Given the description of an element on the screen output the (x, y) to click on. 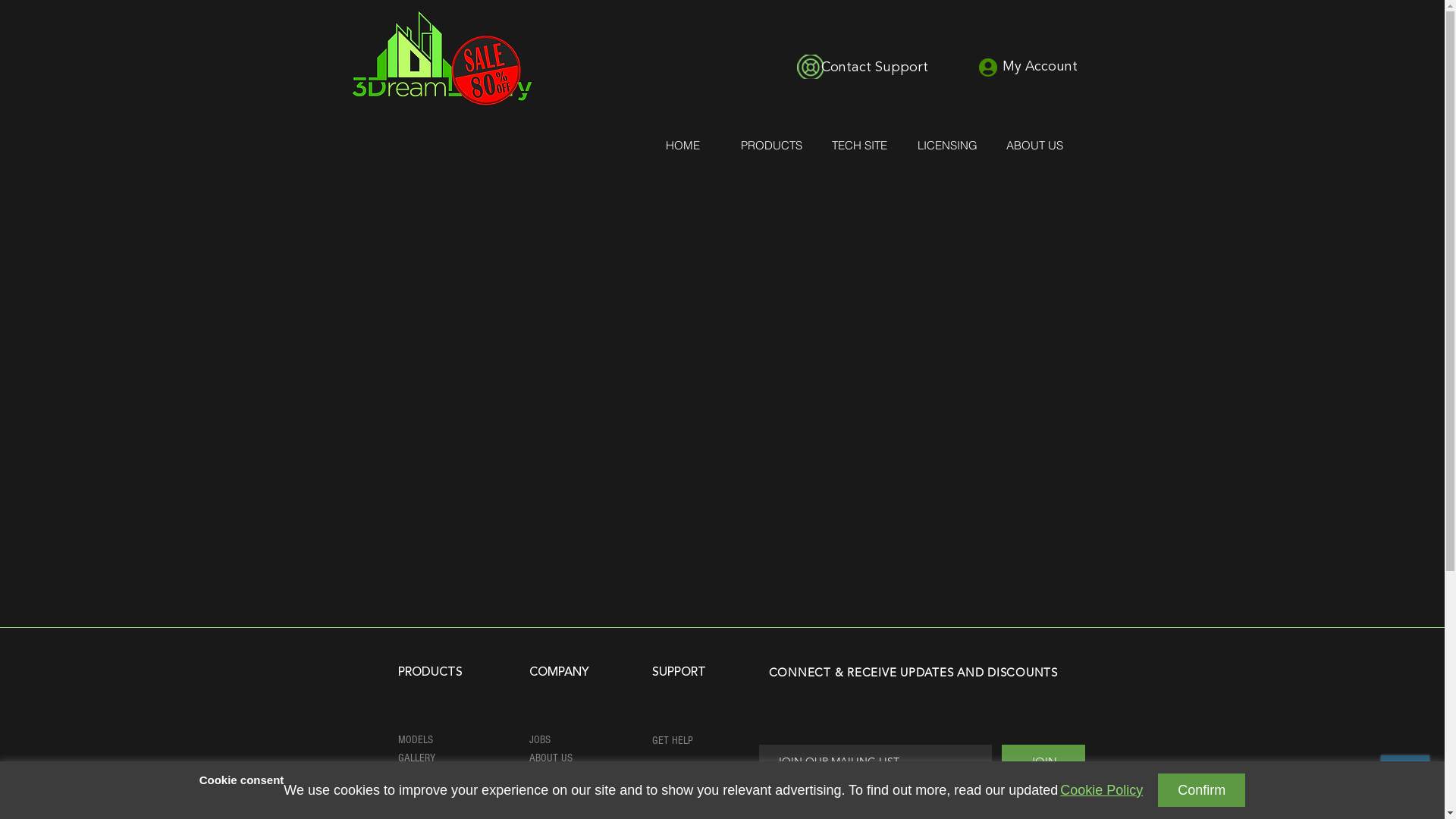
GET HELP Element type: text (672, 740)
ABOUT US Element type: text (550, 757)
Confirm Element type: text (1201, 789)
Online Store Element type: hover (721, 361)
icon-contact-suuport.png Element type: hover (809, 66)
REPORT ISSUE Element type: text (682, 772)
Online Store Element type: hover (485, 146)
MODELS Element type: text (414, 739)
PRODUCTS Element type: text (770, 144)
ABOUT US Element type: text (1033, 144)
My Account Element type: text (1039, 67)
TECH SITE Element type: text (858, 144)
Online Store Element type: hover (953, 53)
logo.jpg Element type: hover (441, 58)
Cookie Policy Element type: text (1101, 789)
JOIN Element type: text (1042, 761)
JOBS Element type: text (539, 739)
HOME Element type: text (682, 144)
TUTORIALS Element type: text (675, 777)
GALLERY Element type: text (415, 757)
Contact Support Element type: text (873, 67)
PRODUCTS Element type: text (429, 670)
LICENSING Element type: text (946, 144)
LICENSING Element type: text (418, 777)
